Given the description of an element on the screen output the (x, y) to click on. 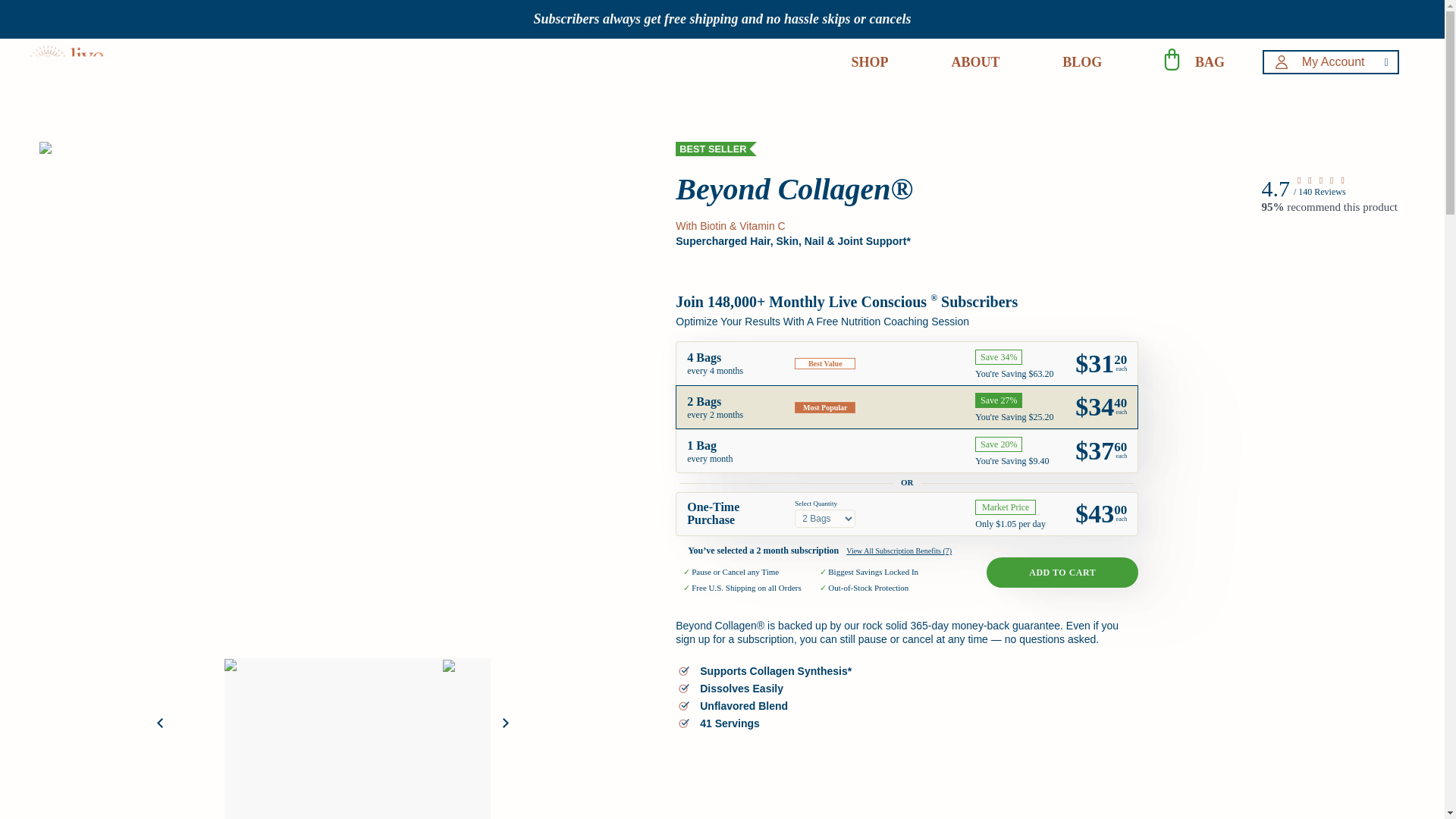
SHOP (869, 62)
ABOUT (974, 62)
BLOG (1082, 62)
BAG (1209, 62)
ADD TO CART (1062, 572)
